Given the description of an element on the screen output the (x, y) to click on. 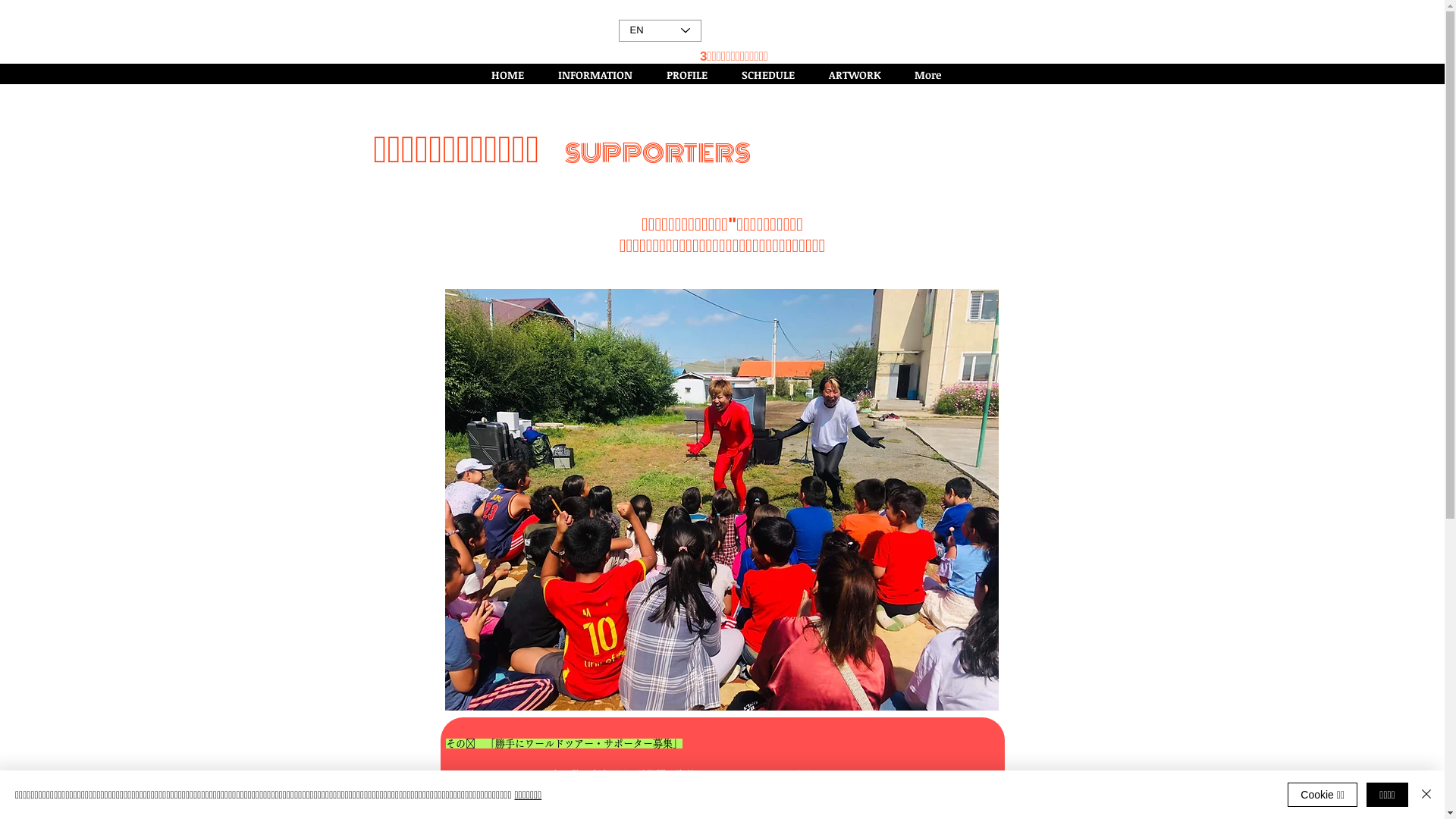
PROFILE Element type: text (692, 74)
Facebook Like Element type: hover (952, 12)
HOME Element type: text (512, 74)
SCHEDULE Element type: text (772, 74)
INFORMATION Element type: text (600, 74)
ARTWORK Element type: text (860, 74)
